Given the description of an element on the screen output the (x, y) to click on. 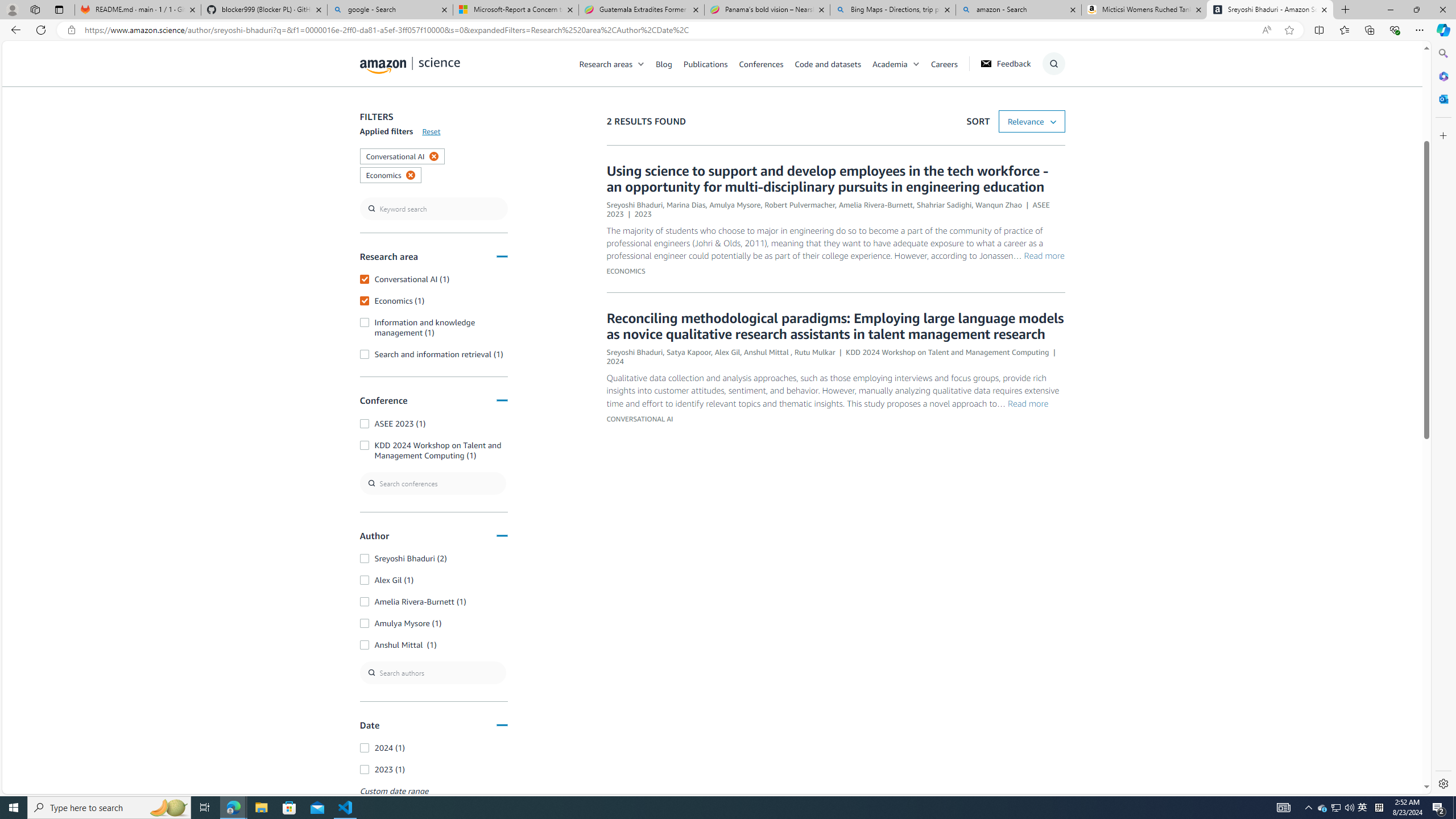
Research areas (606, 63)
search (433, 208)
Amelia Rivera-Burnett (875, 204)
Sreyoshi Bhaduri - Amazon Science (1270, 9)
SORT (1031, 121)
KDD 2024 Workshop on Talent and Management Computing (947, 352)
